Given the description of an element on the screen output the (x, y) to click on. 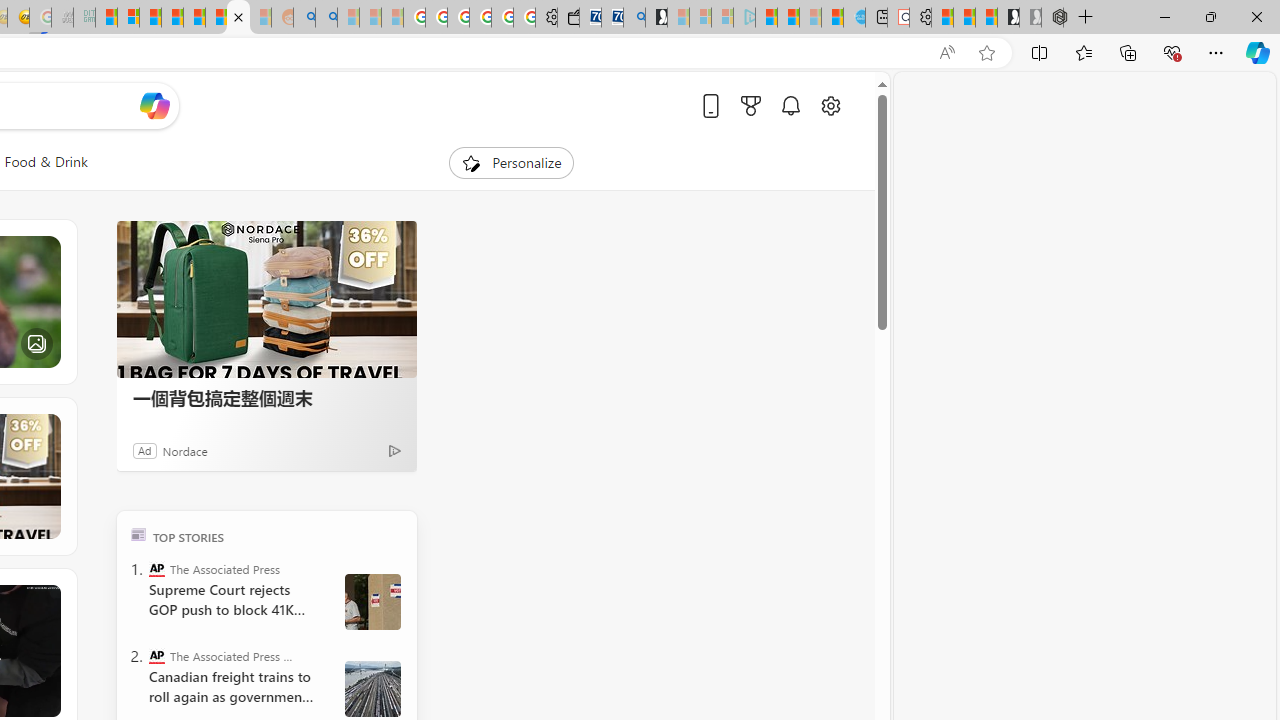
Home | Sky Blue Bikes - Sky Blue Bikes (854, 17)
Open Copilot (155, 105)
Navy Quest (62, 17)
Ad (145, 450)
Settings (920, 17)
Restore (1210, 16)
See more (46, 598)
TOP (138, 534)
To get missing image descriptions, open the context menu. (471, 162)
